Given the description of an element on the screen output the (x, y) to click on. 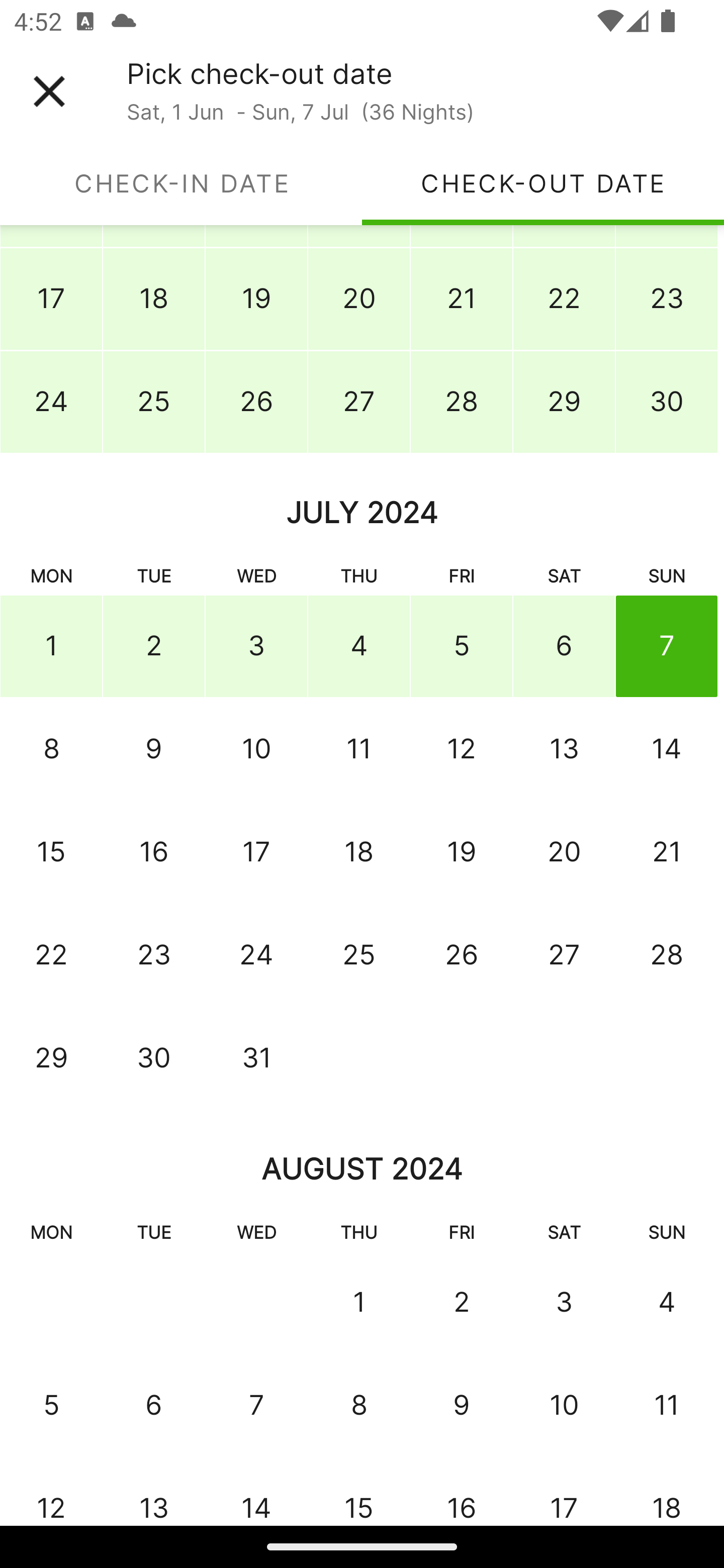
Check-in Date CHECK-IN DATE (181, 183)
